Given the description of an element on the screen output the (x, y) to click on. 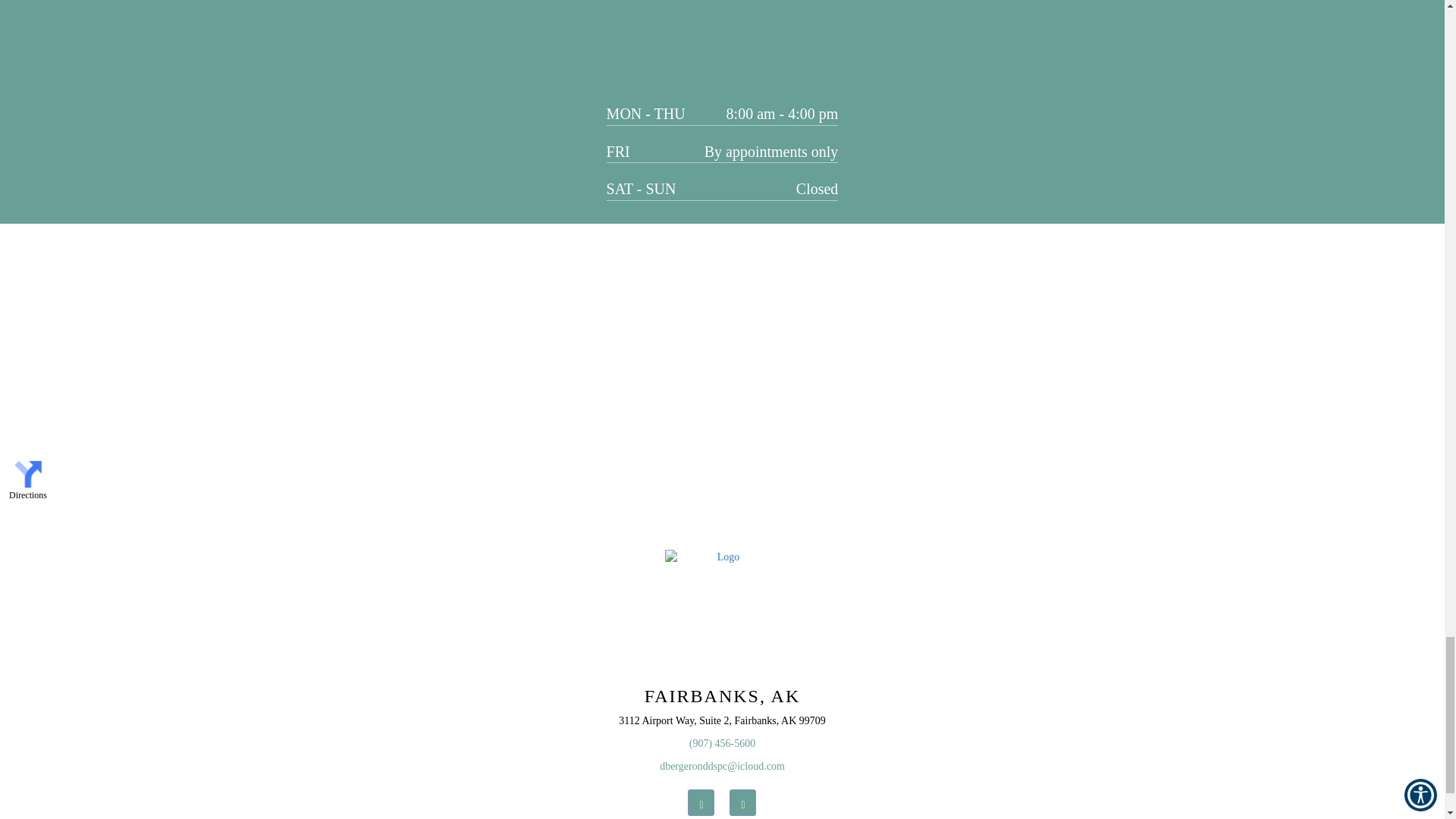
Logo (721, 606)
